Given the description of an element on the screen output the (x, y) to click on. 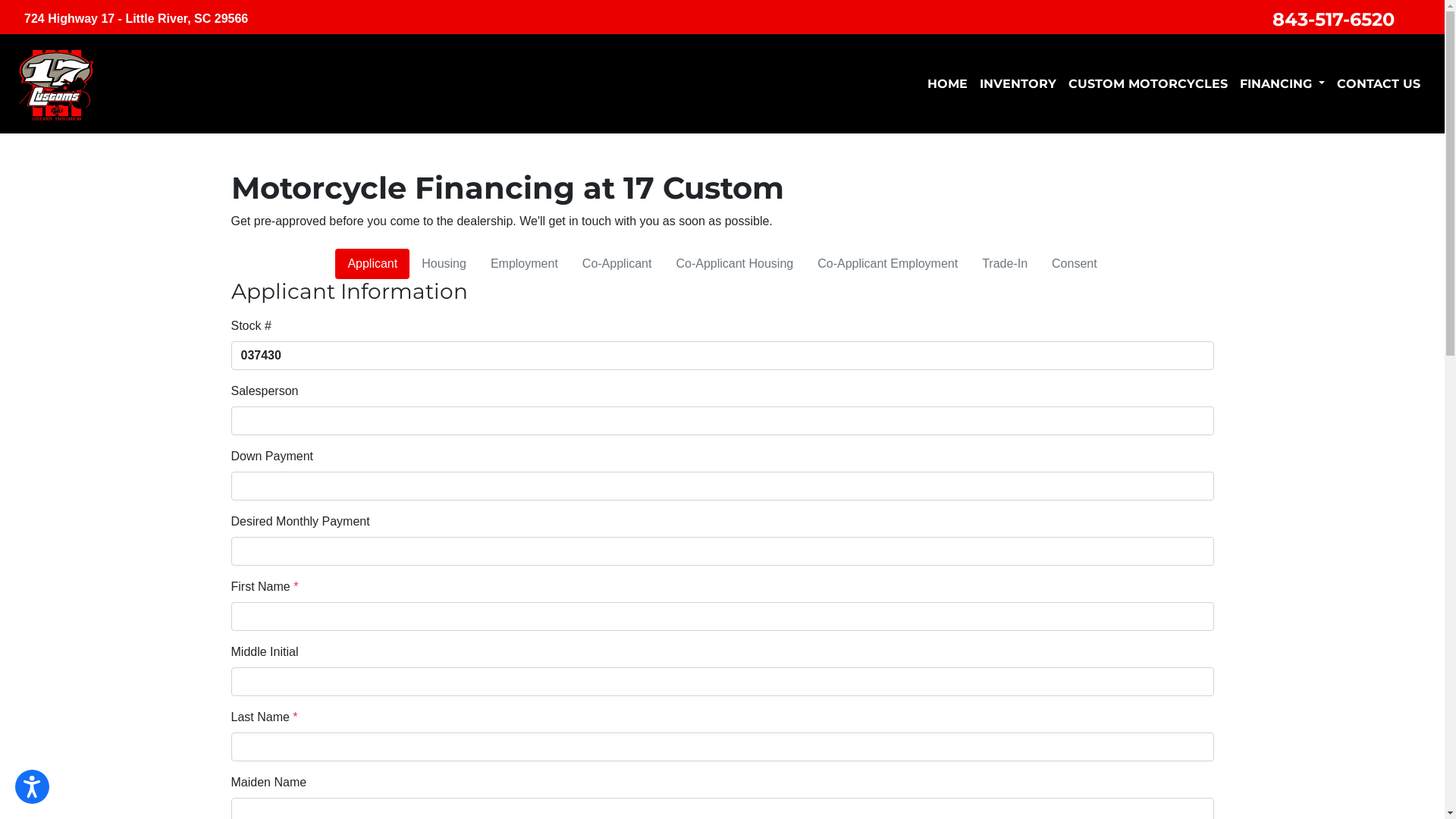
Housing Element type: text (443, 263)
HOME Element type: text (947, 83)
Consent Element type: text (1074, 263)
Co-Applicant Element type: text (617, 263)
Co-Applicant Housing Element type: text (734, 263)
Trade-In Element type: text (1004, 263)
FINANCING Element type: text (1281, 83)
Co-Applicant Employment Element type: text (887, 263)
navigate to 17 Customs  Facebook Element type: hover (1413, 14)
Applicant Element type: text (372, 263)
724 Highway 17 - Little River, SC 29566 Element type: text (136, 18)
843-517-6520 Element type: text (1333, 19)
CUSTOM MOTORCYCLES Element type: text (1147, 83)
Employment Element type: text (524, 263)
17 Customs Element type: hover (56, 83)
CONTACT US Element type: text (1378, 83)
INVENTORY Element type: text (1017, 83)
